Given the description of an element on the screen output the (x, y) to click on. 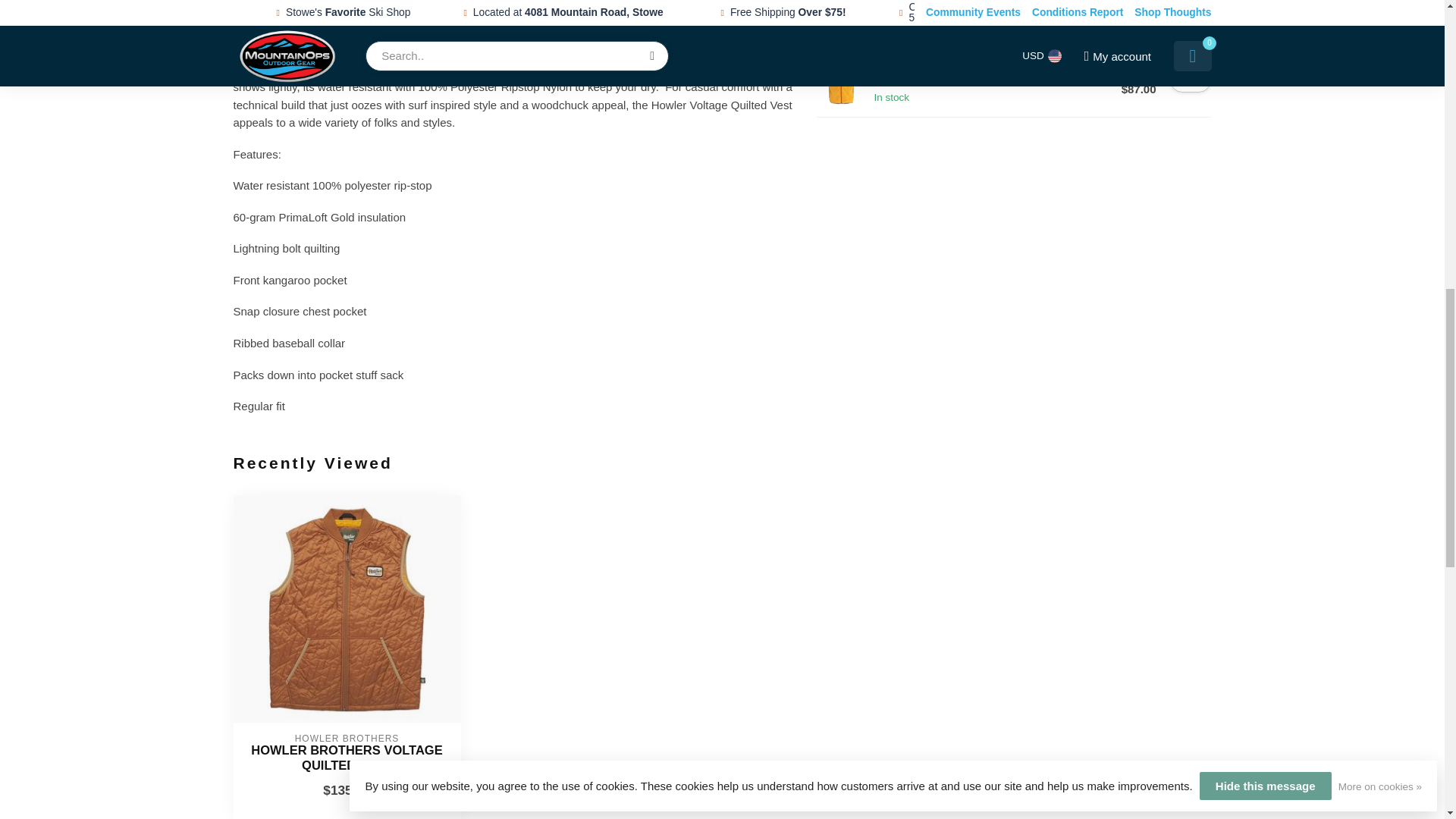
Cotopaxi Cotopaxi Trico Hybrid Vest (841, 80)
Howler Brothers Howler Brothers Voltage Quilted Vest (346, 608)
Howler Brothers Howler Brothers Voltage Quilted Vest (346, 757)
